Given the description of an element on the screen output the (x, y) to click on. 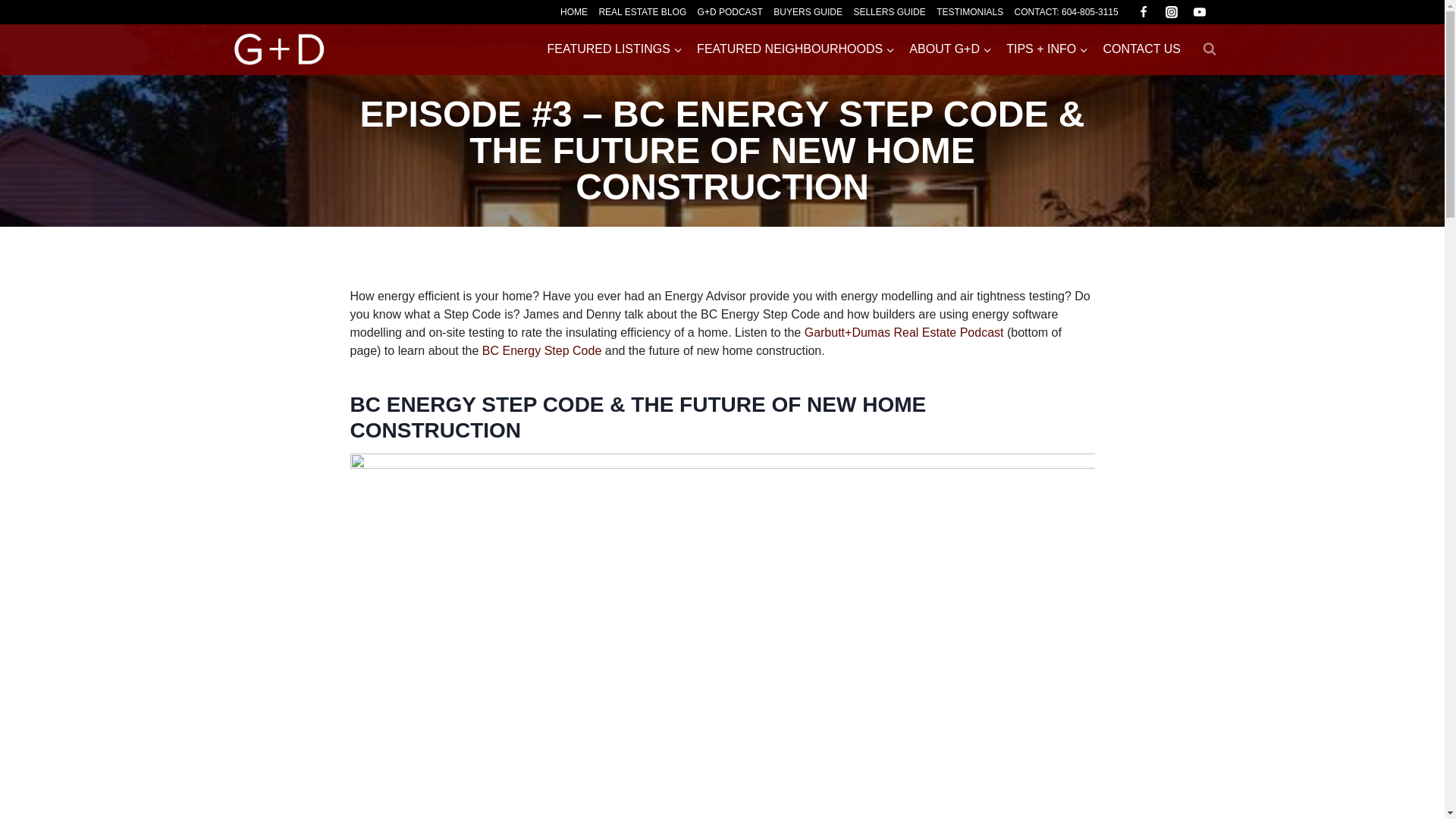
FEATURED LISTINGS (615, 48)
CONTACT: 604-805-3115 (1066, 12)
SELLERS GUIDE (889, 12)
FEATURED NEIGHBOURHOODS (796, 48)
TESTIMONIALS (970, 12)
BUYERS GUIDE (807, 12)
REAL ESTATE BLOG (641, 12)
HOME (573, 12)
